Given the description of an element on the screen output the (x, y) to click on. 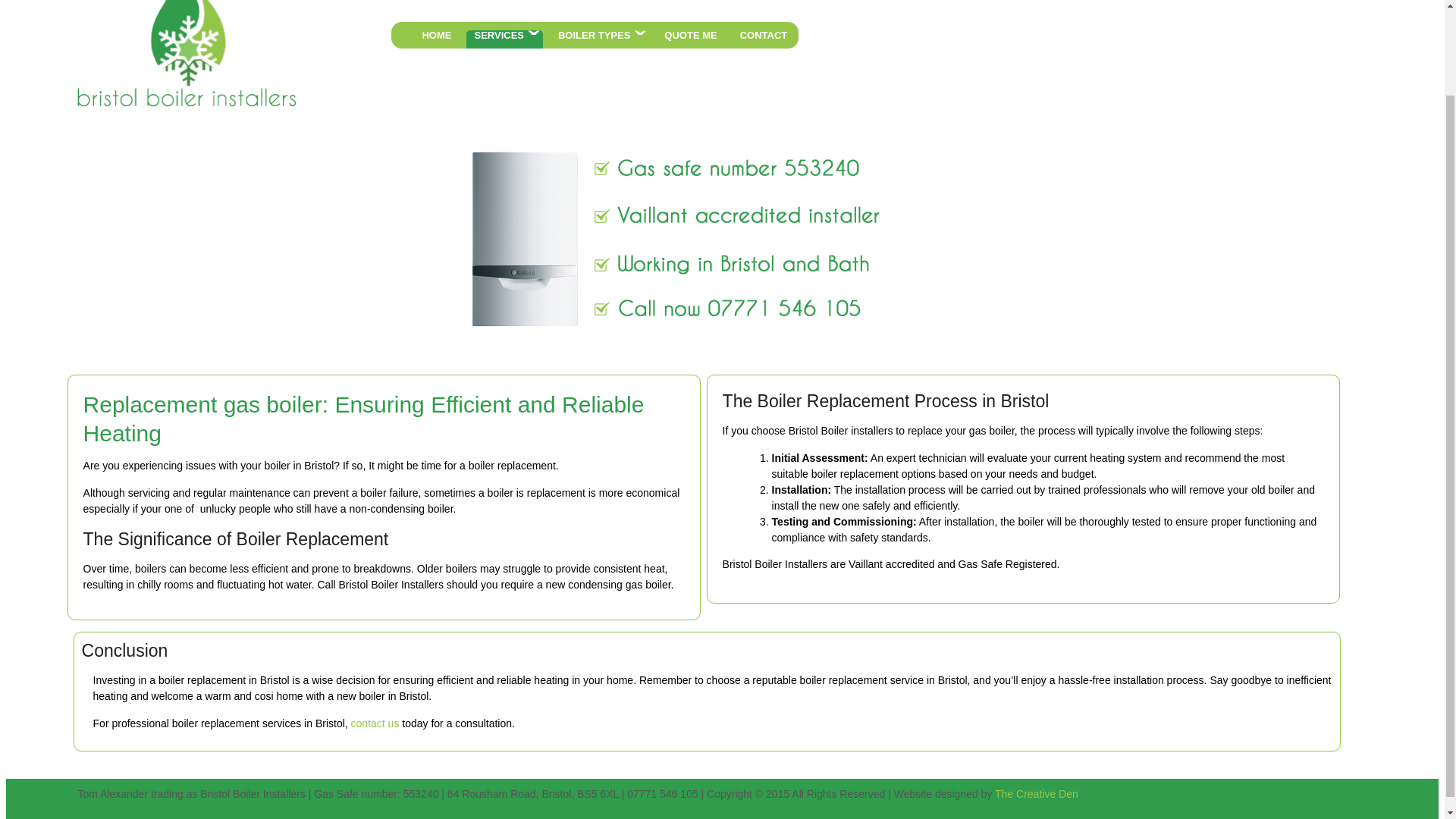
CONTACT (763, 39)
SERVICES (504, 39)
HOME (435, 39)
Vaillant accredited (891, 563)
Gas Safe Registered (1007, 563)
contact us (374, 723)
BOILER TYPES (599, 39)
website design bristol (1036, 793)
QUOTE ME (689, 39)
The Creative Den (1036, 793)
